Given the description of an element on the screen output the (x, y) to click on. 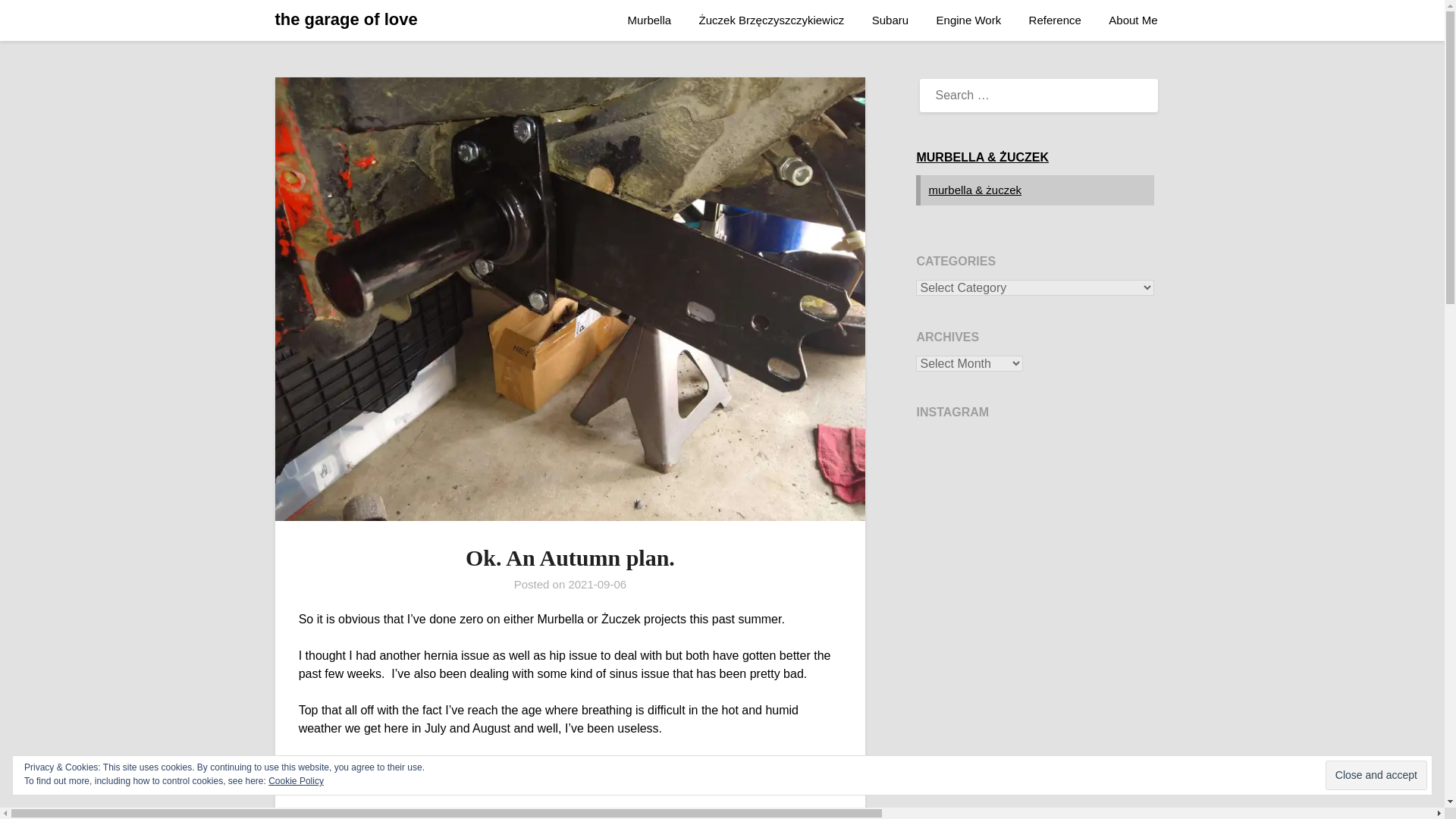
Engine Work (968, 20)
the garage of love (345, 19)
2021-09-06 (596, 584)
Murbella (649, 20)
Airing out Mr Z. (1034, 548)
Reference (1054, 20)
Close and accept (1375, 775)
Search (38, 22)
Subaru (890, 20)
About Me (1132, 20)
